Given the description of an element on the screen output the (x, y) to click on. 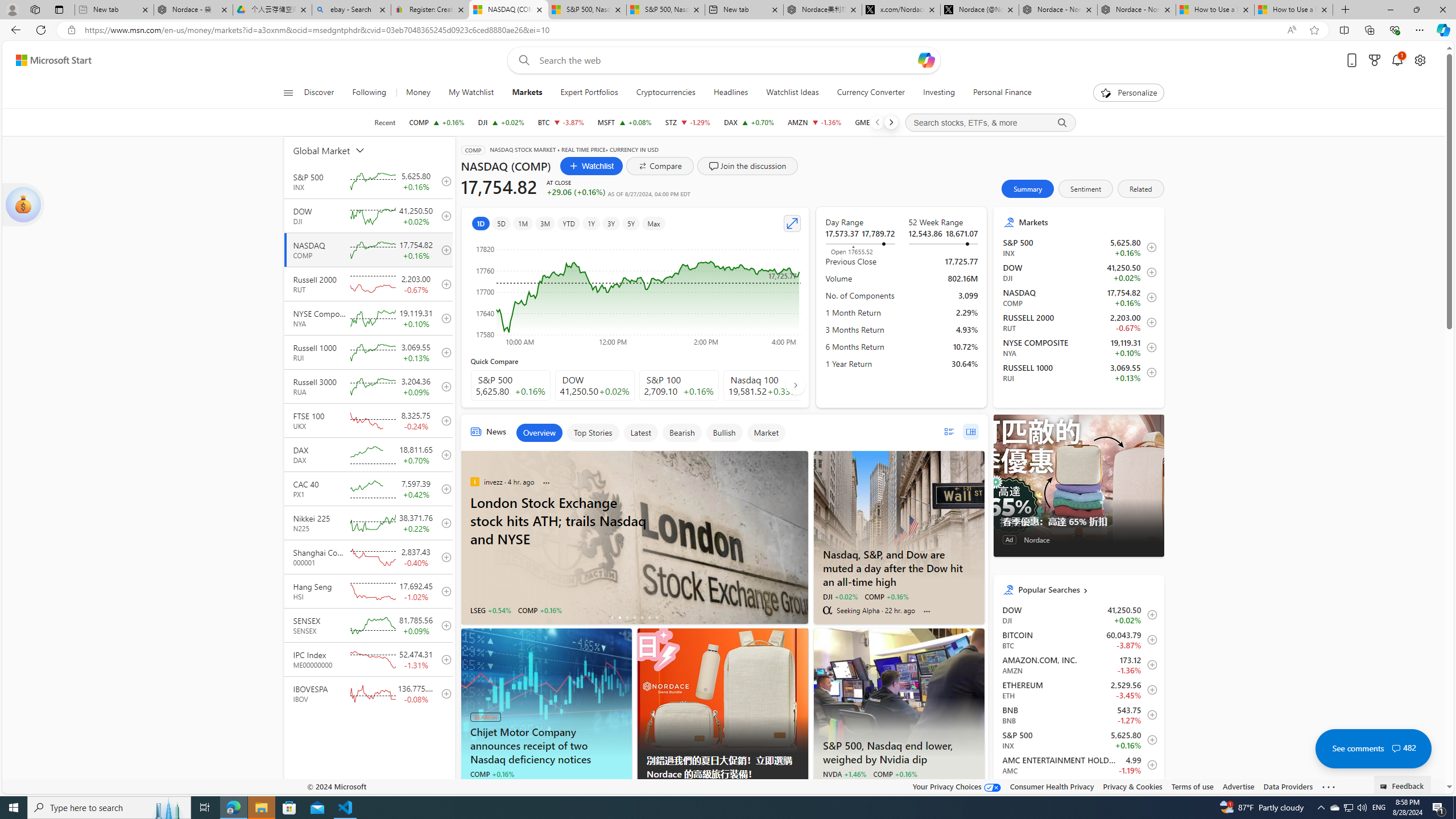
Register: Create a personal eBay account (429, 9)
Money (417, 92)
Advertise (1238, 786)
Open navigation menu (287, 92)
See comments 482 (1372, 748)
Currency Converter (870, 92)
Global Market (341, 150)
Consumer Health Privacy (1051, 786)
